Given the description of an element on the screen output the (x, y) to click on. 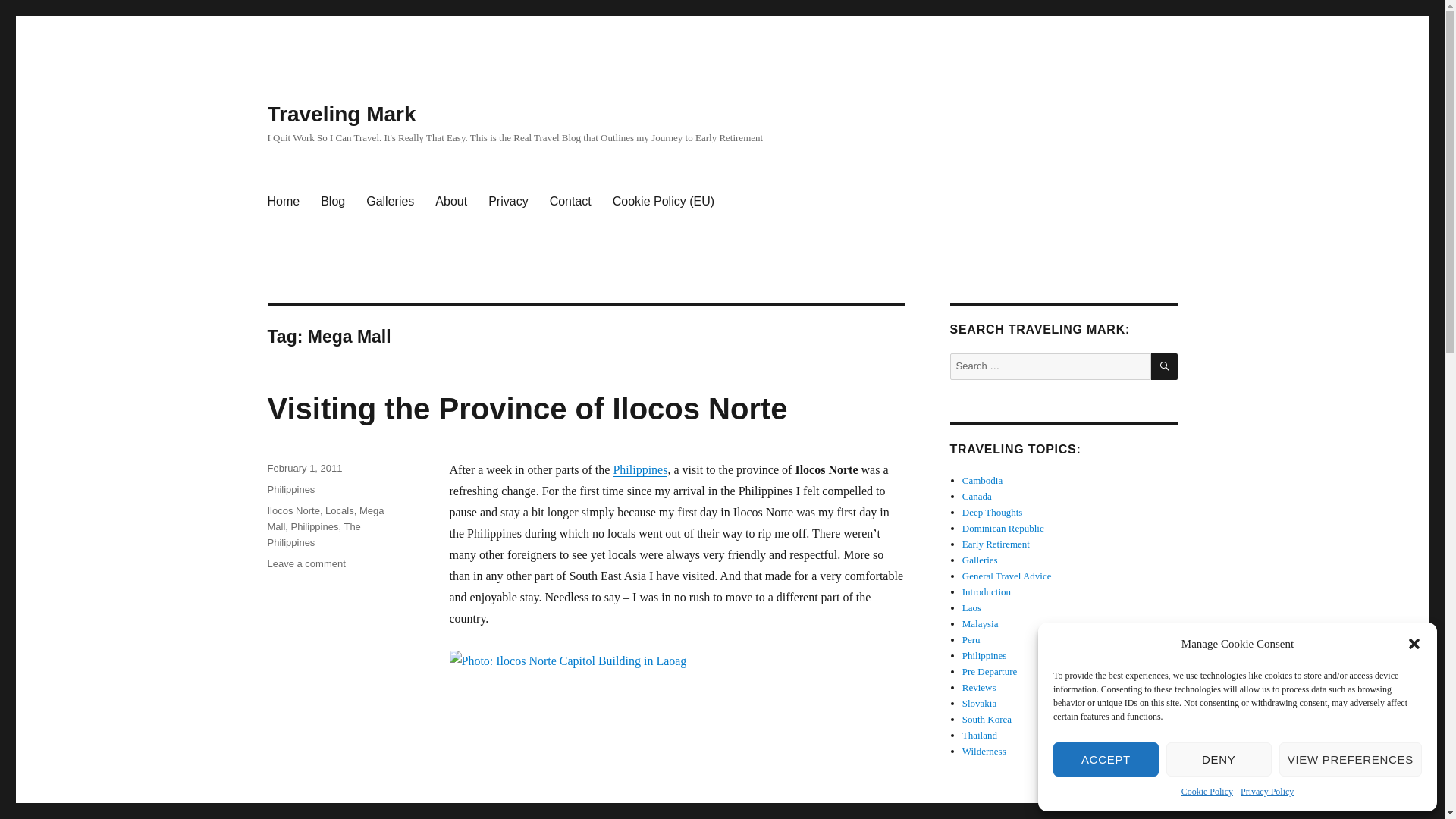
Contact Traveling Mark (570, 201)
Traveling Mark (283, 201)
Canada (976, 496)
Privacy Policy (1267, 791)
Blog (332, 201)
Privacy (507, 201)
Traveling Mark (340, 114)
Cookie Policy (1206, 791)
Travel Through Philippines (639, 469)
About Traveling Mark (451, 201)
Mega Mall (305, 563)
ACCEPT (325, 518)
About (1105, 759)
Philippines (451, 201)
